Given the description of an element on the screen output the (x, y) to click on. 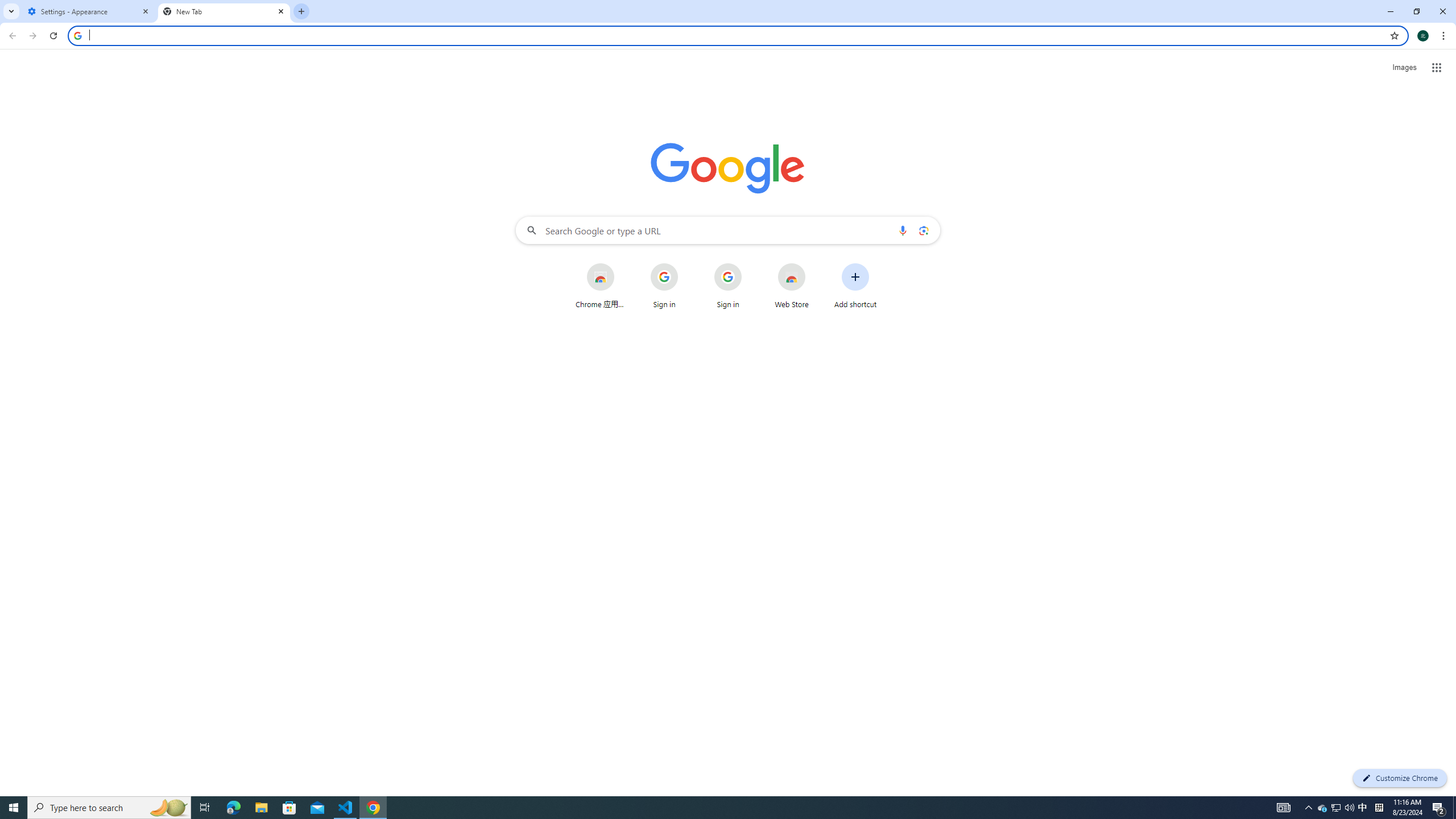
Settings - Appearance (88, 11)
More actions for Sign in shortcut (750, 264)
New Tab (224, 11)
